Given the description of an element on the screen output the (x, y) to click on. 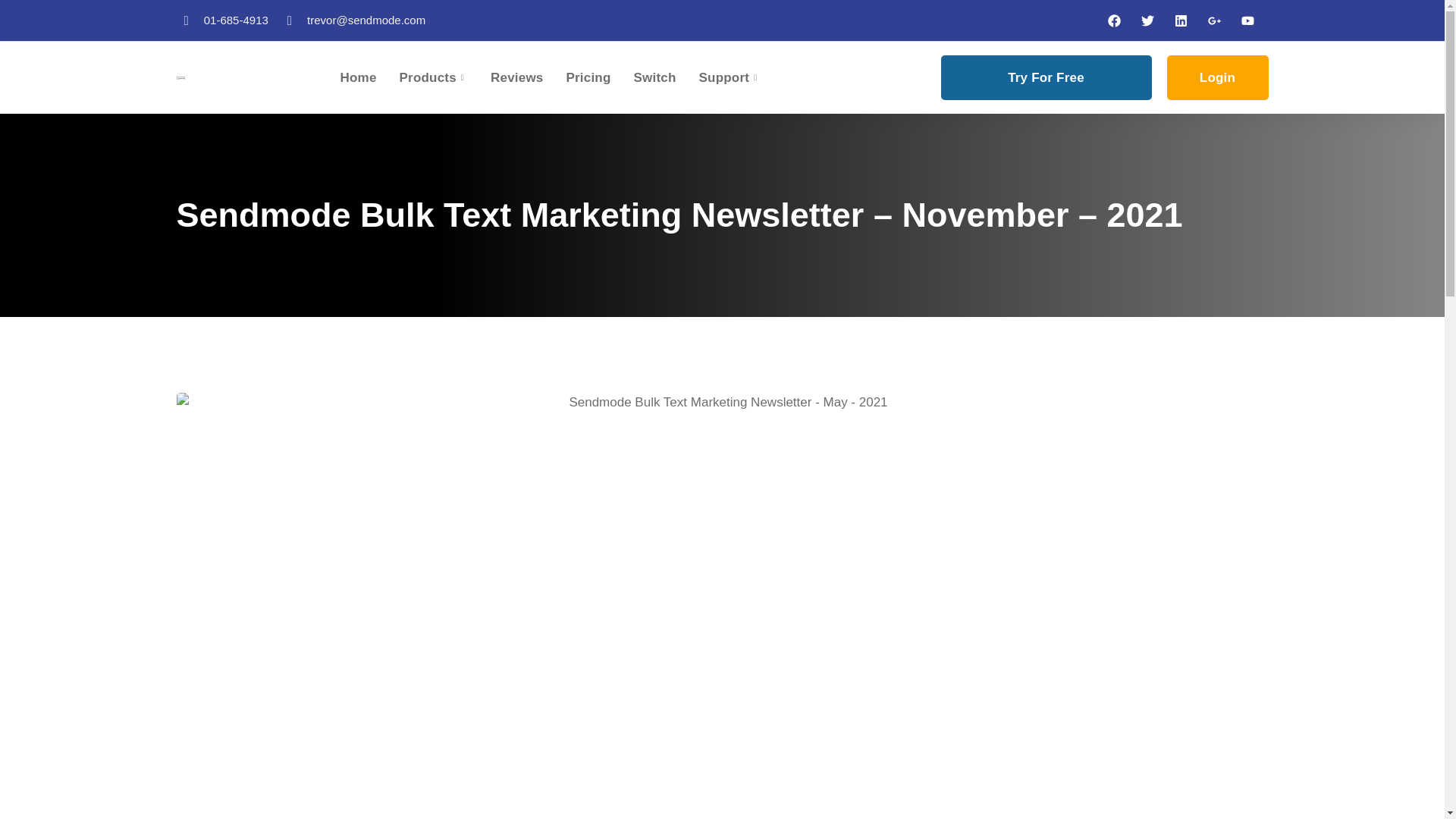
Products (445, 77)
